Given the description of an element on the screen output the (x, y) to click on. 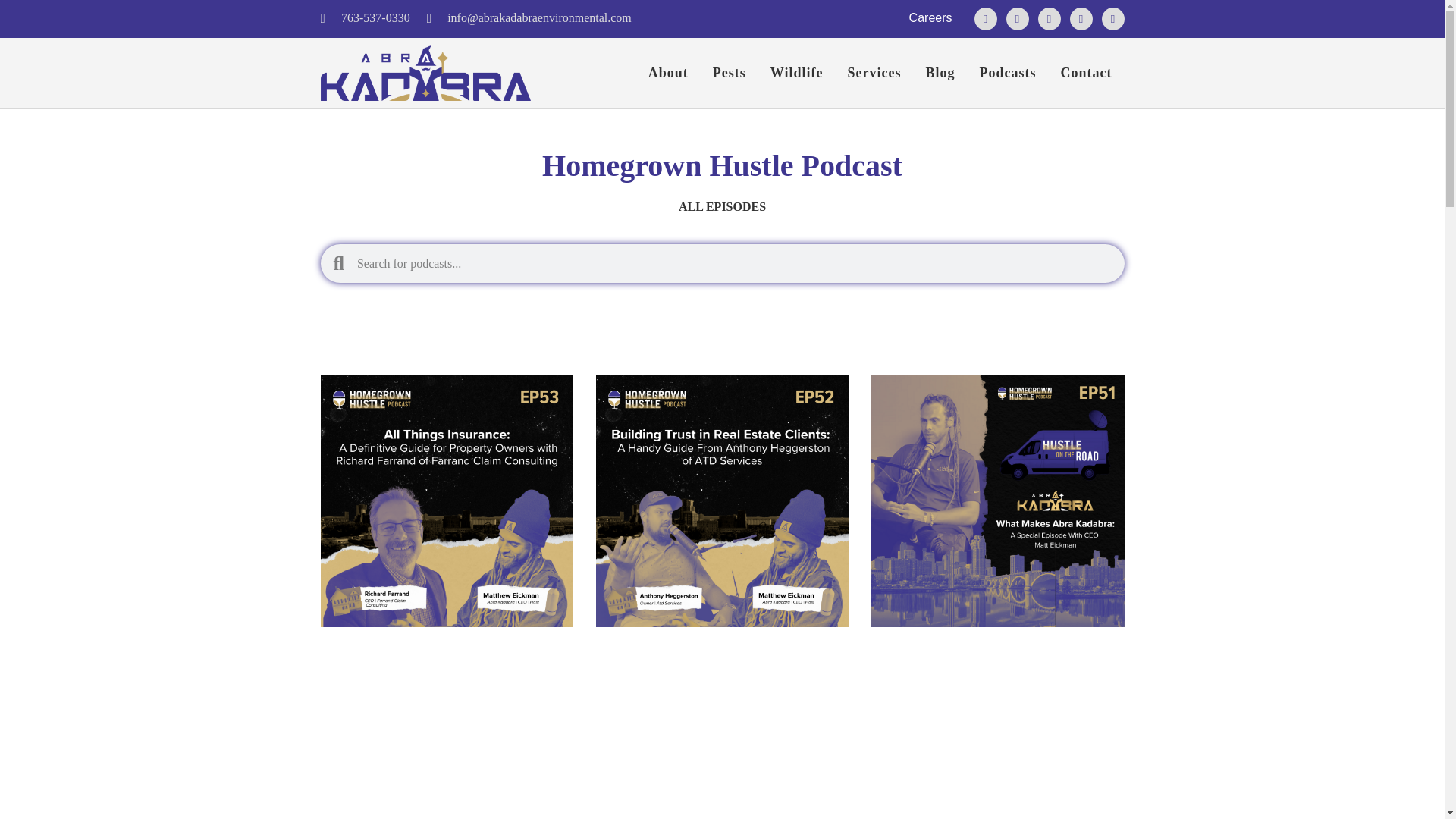
Wildlife (796, 72)
Pests (729, 72)
Careers (930, 17)
763-537-0330 (364, 18)
Services (873, 72)
About (668, 72)
